Given the description of an element on the screen output the (x, y) to click on. 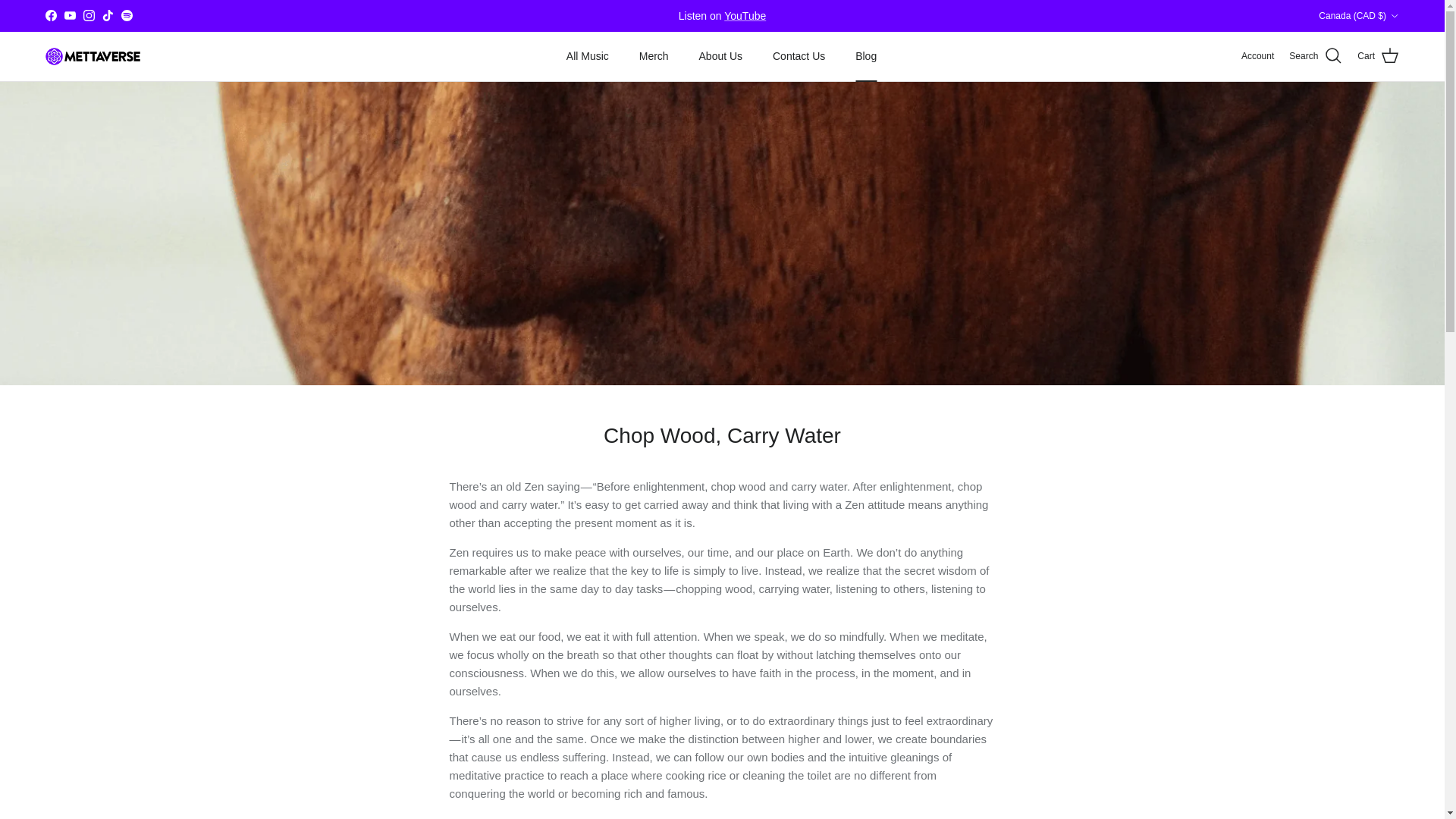
Blog (865, 56)
Spotify (126, 15)
Contact Us (798, 56)
All Music (588, 56)
Mettaverse on TikTok (107, 15)
YouTube (69, 15)
Mettaverse (92, 56)
Instagram (88, 15)
Account (1257, 56)
Facebook (50, 15)
